Given the description of an element on the screen output the (x, y) to click on. 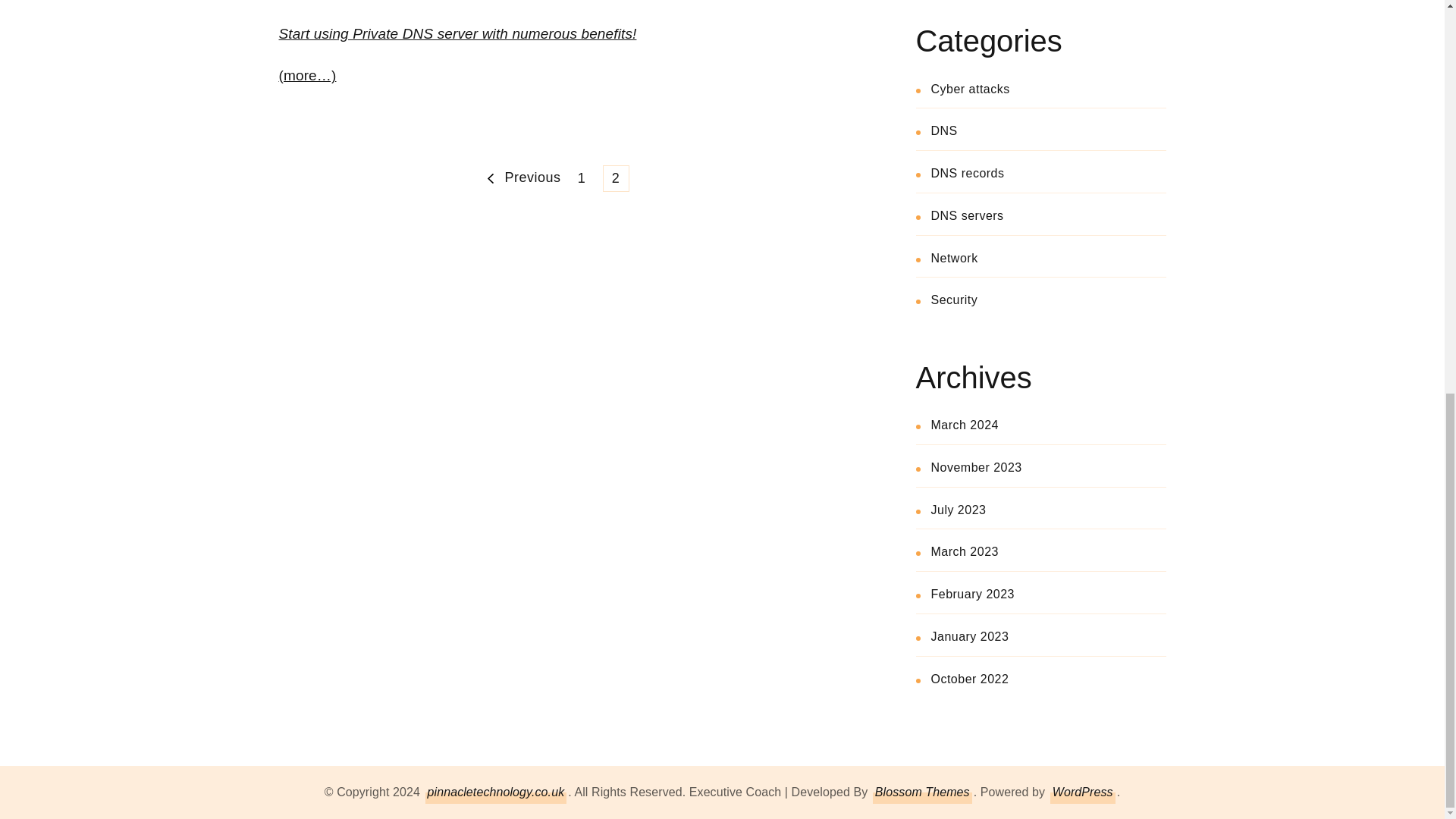
Start using Private DNS server with numerous benefits! (458, 33)
Network (954, 257)
July 2023 (959, 509)
Cyber attacks (970, 88)
November 2023 (976, 467)
March 2023 (964, 551)
DNS (582, 178)
March 2024 (944, 130)
Previous (964, 424)
DNS servers (522, 178)
DNS records (967, 215)
Security (967, 173)
